Given the description of an element on the screen output the (x, y) to click on. 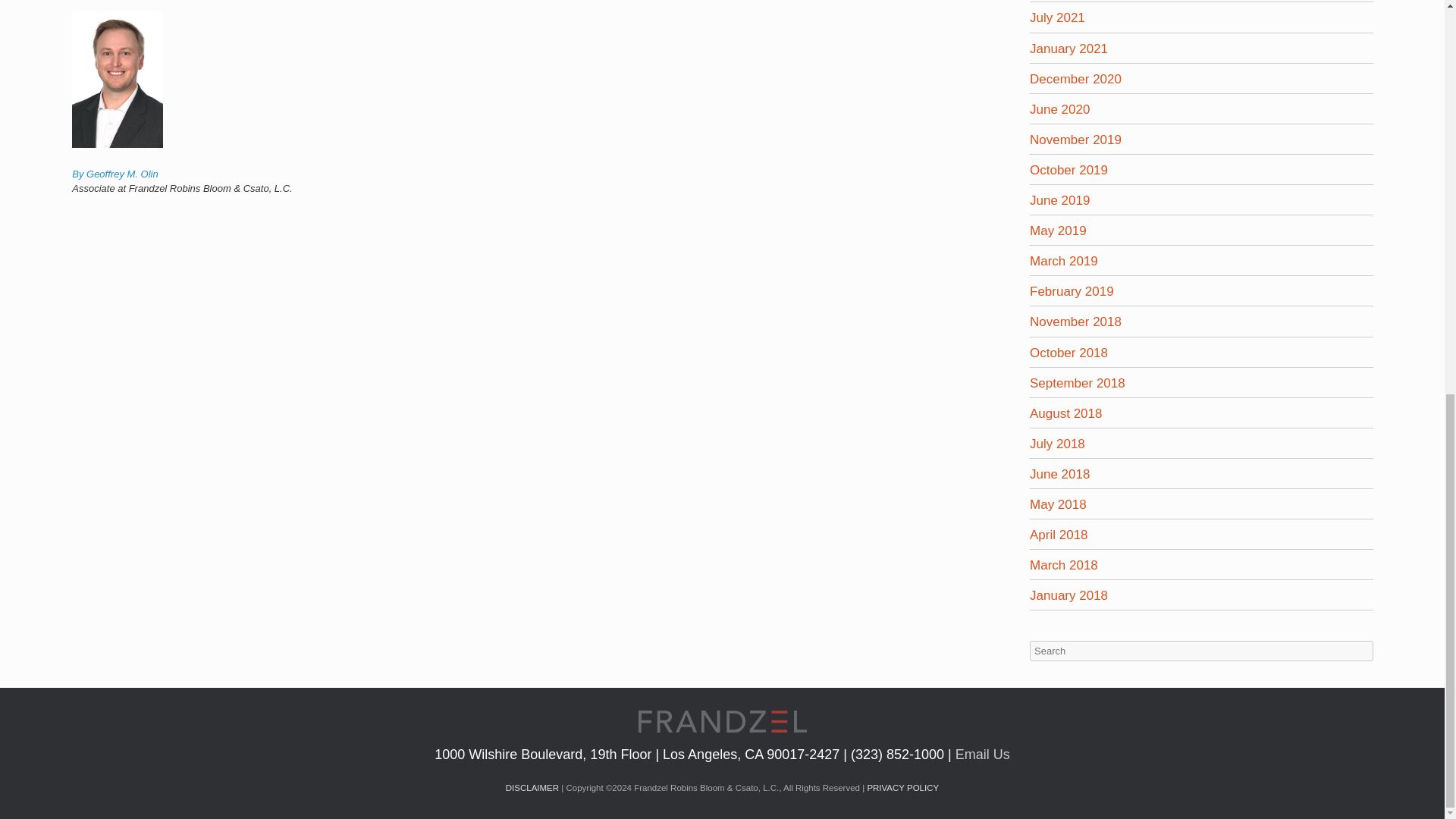
February 2019 (1071, 291)
June 2019 (1059, 200)
July 2021 (1056, 17)
October 2019 (1068, 169)
December 2020 (1075, 79)
March 2019 (1063, 260)
January 2021 (1068, 48)
November 2018 (1075, 321)
November 2019 (1075, 139)
June 2020 (1059, 109)
